Given the description of an element on the screen output the (x, y) to click on. 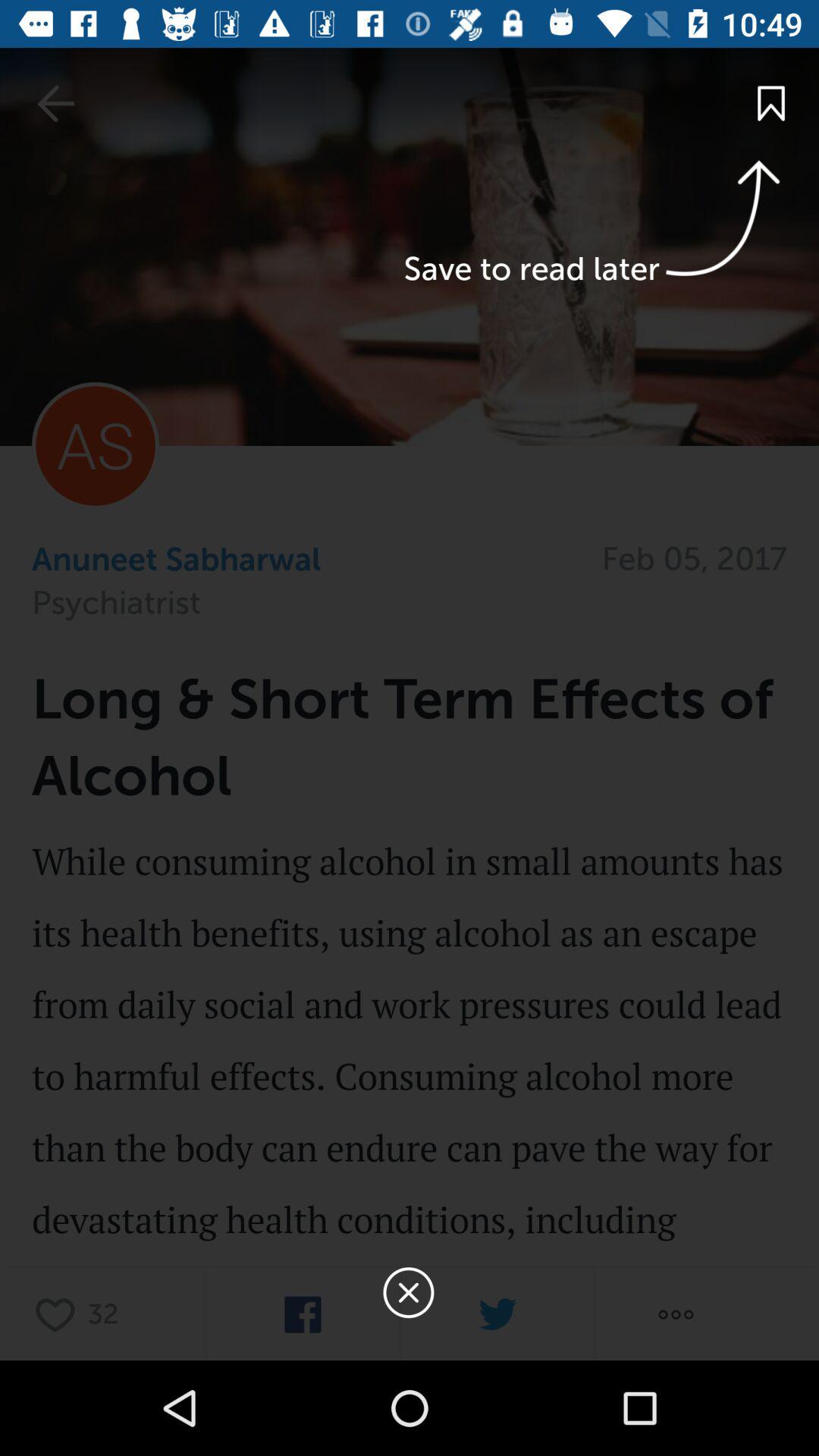
share to facebook (302, 1314)
